Given the description of an element on the screen output the (x, y) to click on. 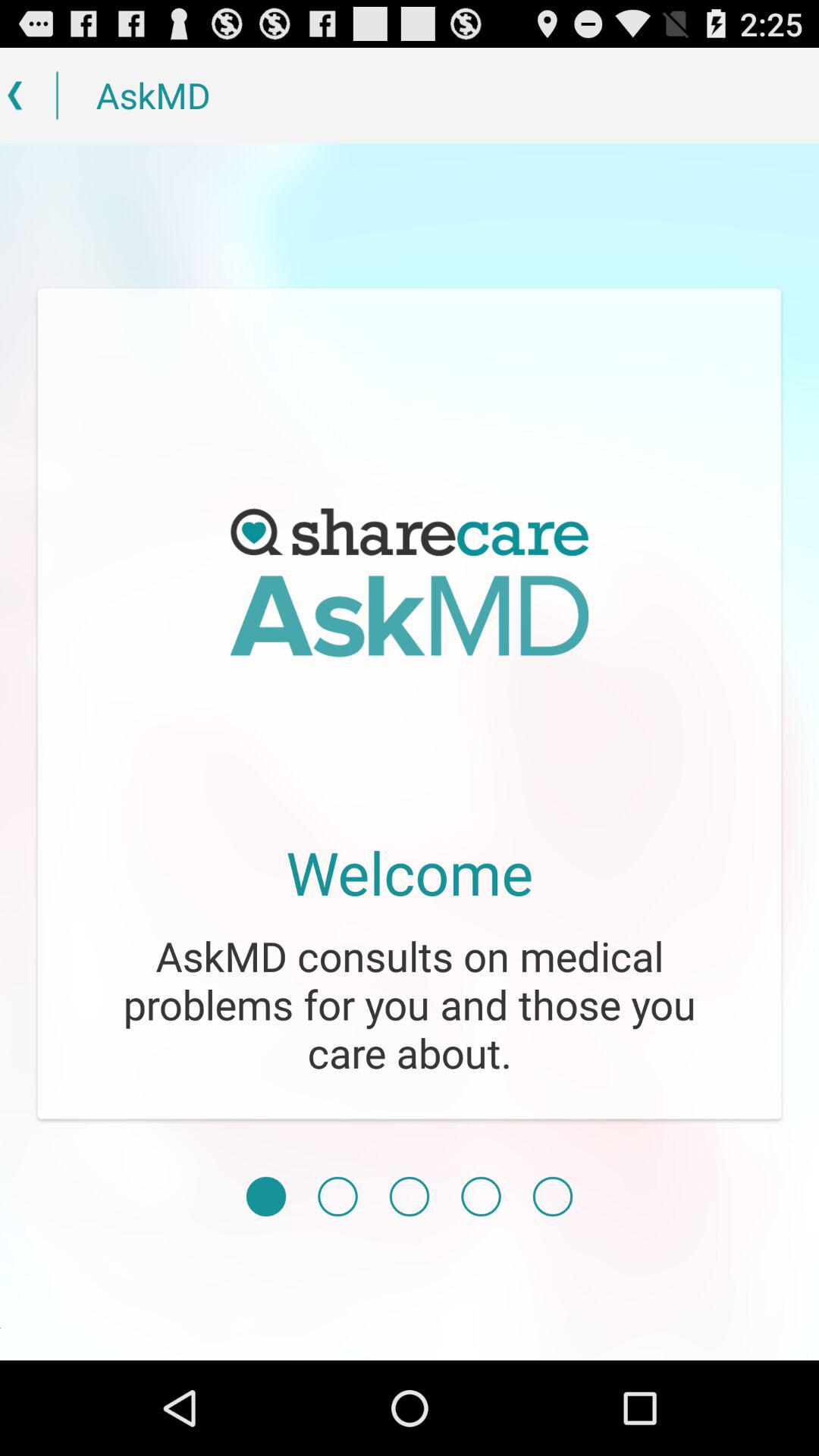
current page (266, 1196)
